Given the description of an element on the screen output the (x, y) to click on. 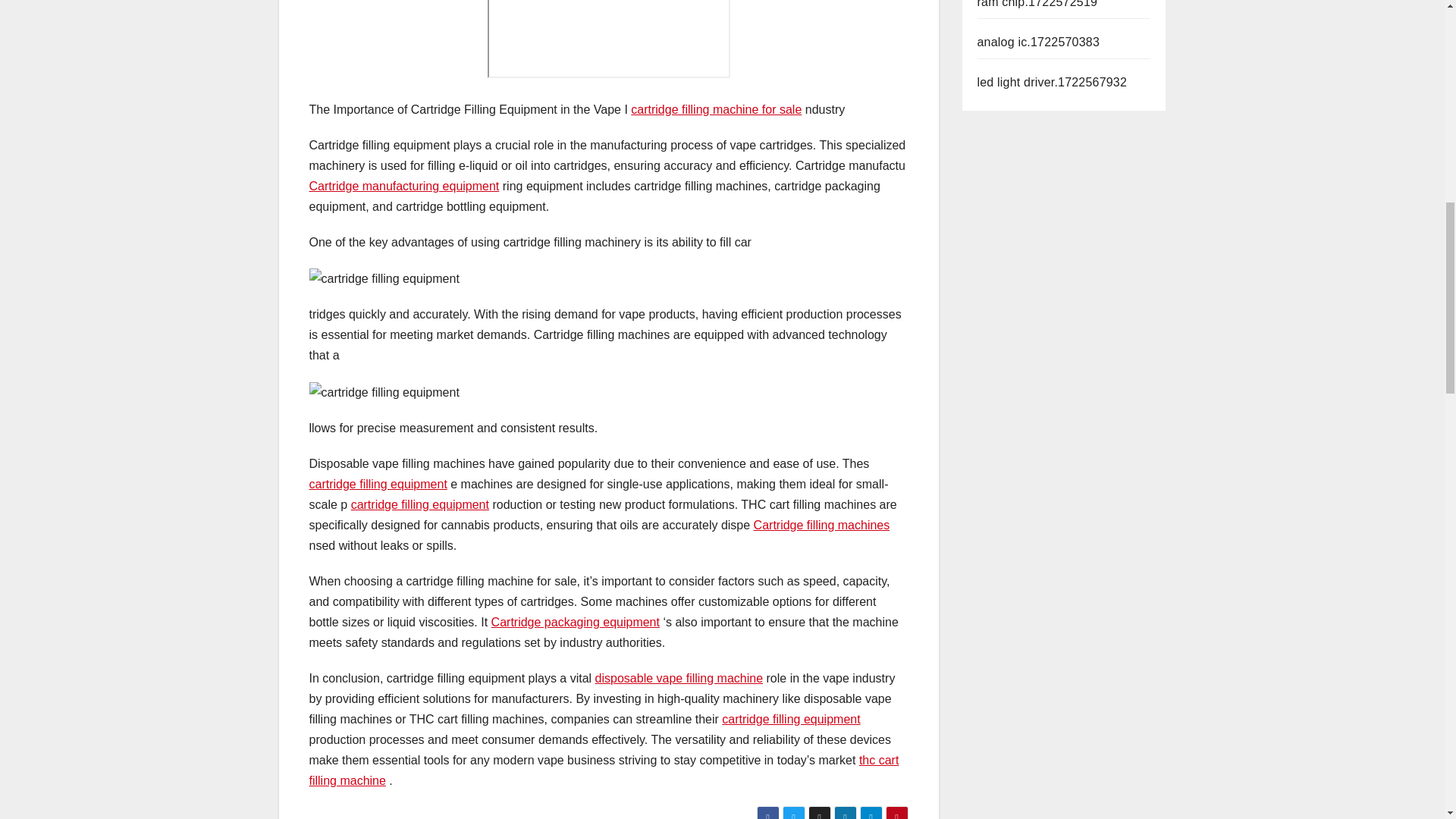
Cartridge filling machines (821, 524)
cartridge filling equipment (419, 504)
Cartridge packaging equipment (575, 621)
cartridge filling machine for sale (716, 109)
cartridge filling equipment (377, 483)
disposable vape filling machine (678, 677)
Cartridge manufacturing equipment (403, 185)
thc cart filling machine (603, 770)
cartridge filling equipment (791, 718)
